Given the description of an element on the screen output the (x, y) to click on. 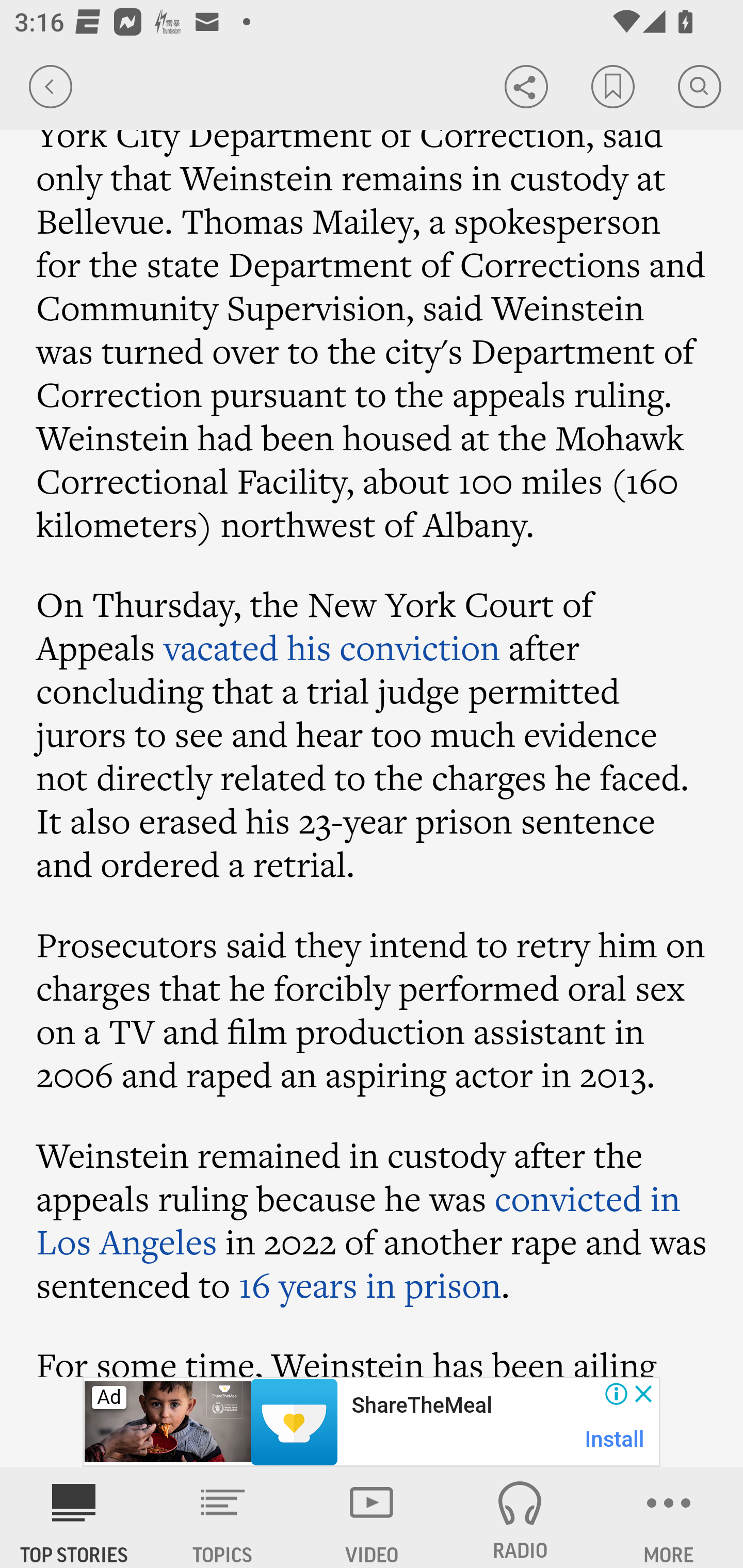
vacated his conviction (332, 647)
convicted in Los Angeles (358, 1219)
16 years in prison (370, 1283)
ShareTheMeal (420, 1405)
Install (614, 1438)
AP News TOP STORIES (74, 1517)
TOPICS (222, 1517)
VIDEO (371, 1517)
RADIO (519, 1517)
MORE (668, 1517)
